Given the description of an element on the screen output the (x, y) to click on. 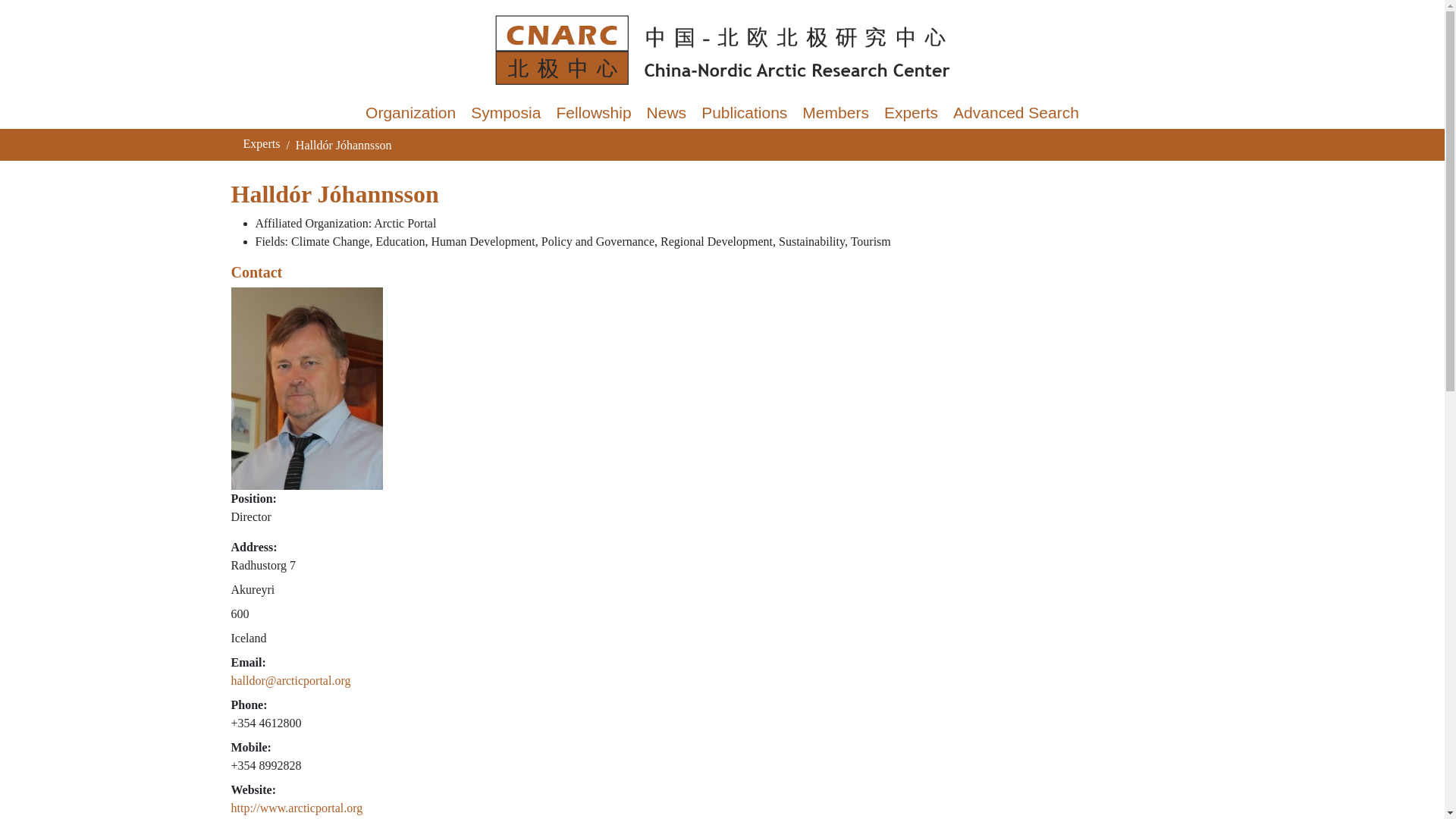
Organization (410, 112)
Members (835, 112)
China-Nordic Arctic Research Center (721, 50)
Experts (910, 112)
Symposia (505, 112)
Fellowship (593, 112)
Publications (744, 112)
News (666, 112)
Experts (261, 142)
Advanced Search (1015, 112)
